Given the description of an element on the screen output the (x, y) to click on. 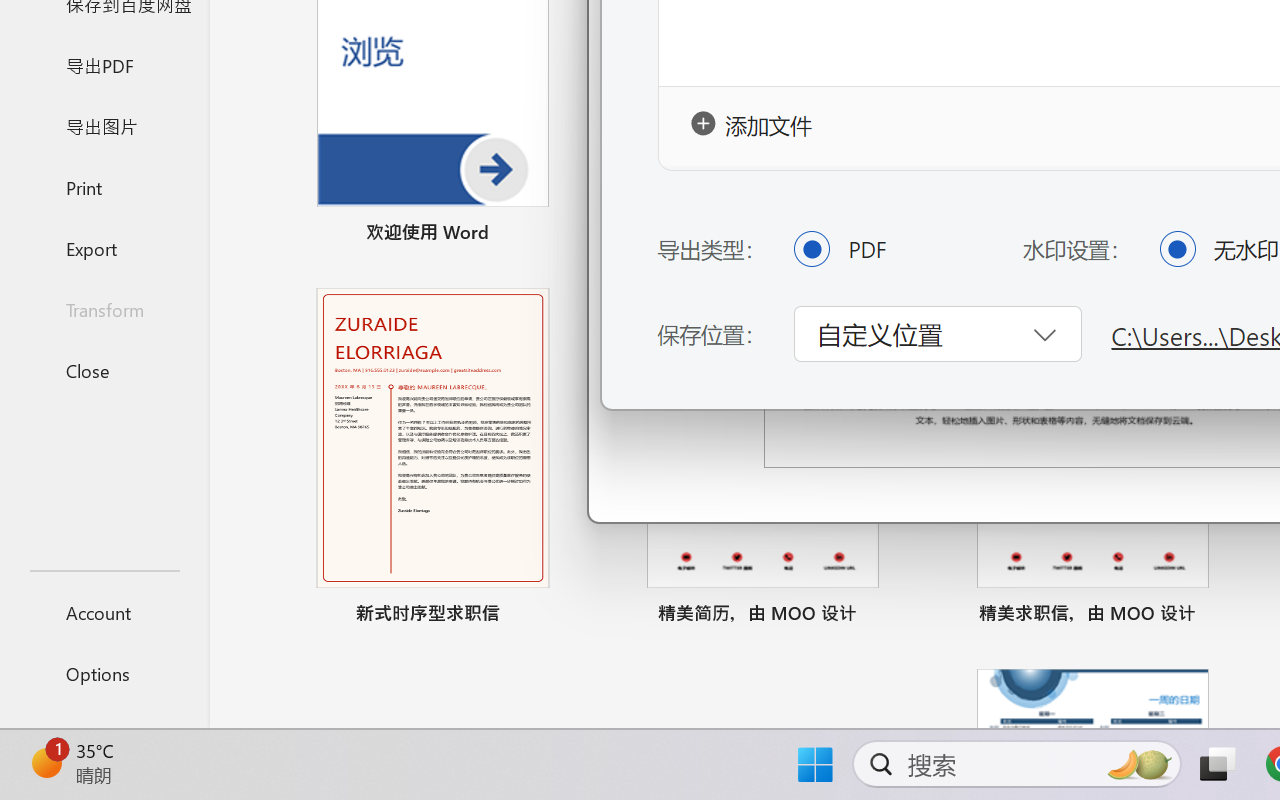
PDF (811, 248)
Print (104, 186)
